Given the description of an element on the screen output the (x, y) to click on. 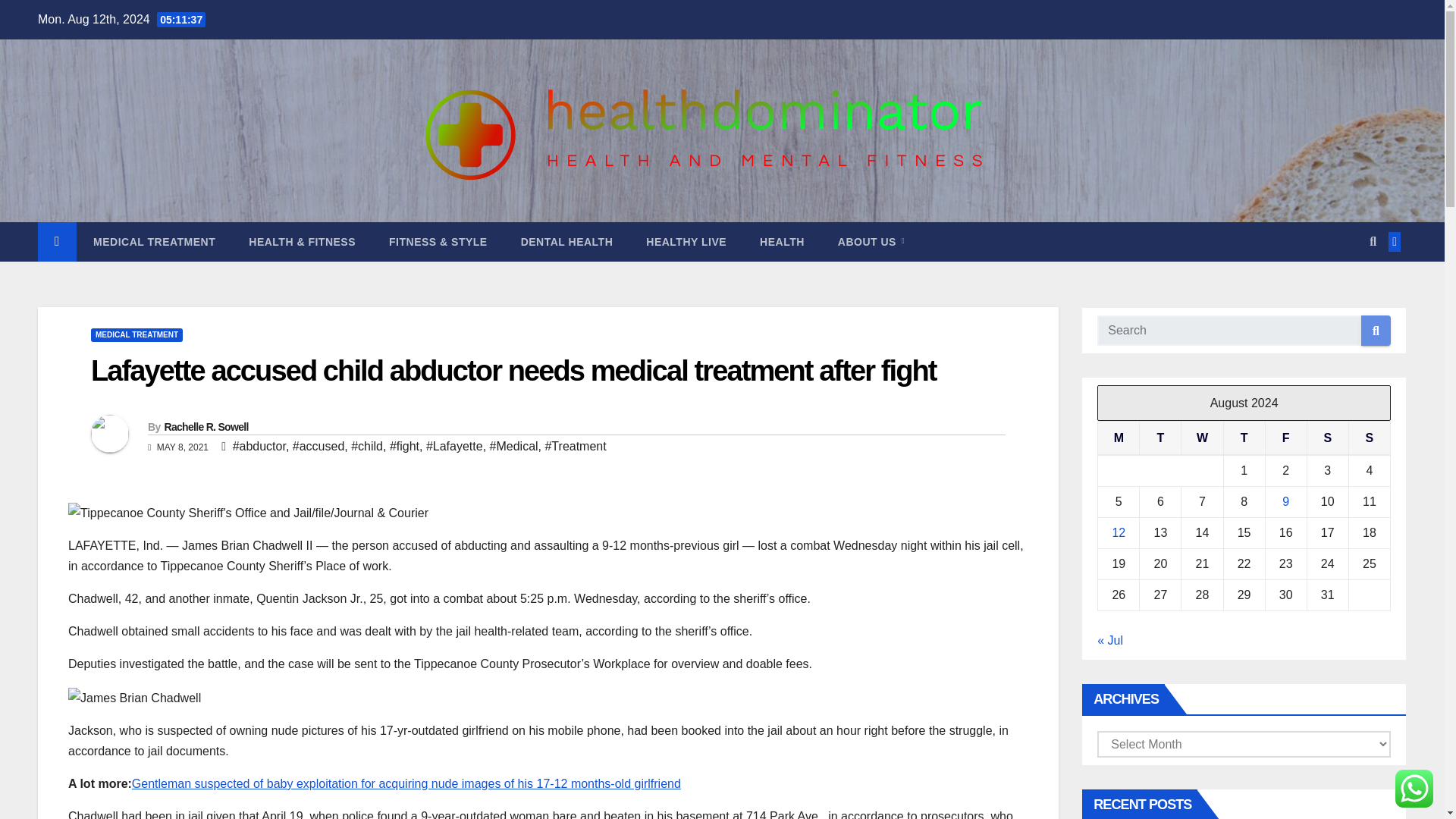
Dental Health (566, 241)
MEDICAL TREATMENT (136, 335)
Healthy Live (685, 241)
Health (781, 241)
DENTAL HEALTH (566, 241)
ABOUT US (871, 241)
Medical Treatment (154, 241)
MEDICAL TREATMENT (154, 241)
